Given the description of an element on the screen output the (x, y) to click on. 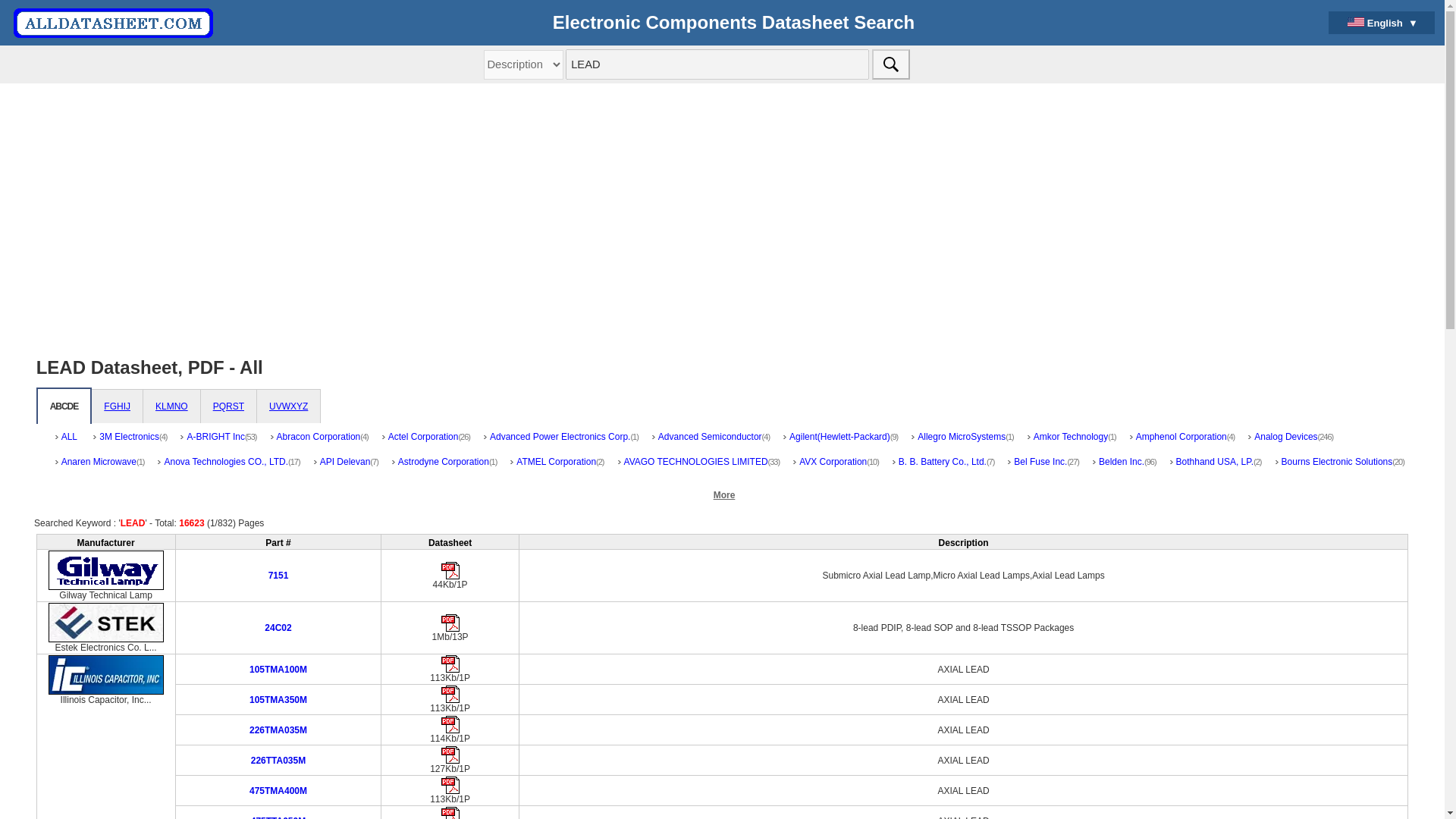
LEAD (717, 64)
ALL (66, 442)
FGHIJ (116, 406)
ABCDE (63, 406)
KLMNO (171, 406)
LEAD (717, 64)
UVWXYZ (288, 406)
PQRST (228, 406)
